Given the description of an element on the screen output the (x, y) to click on. 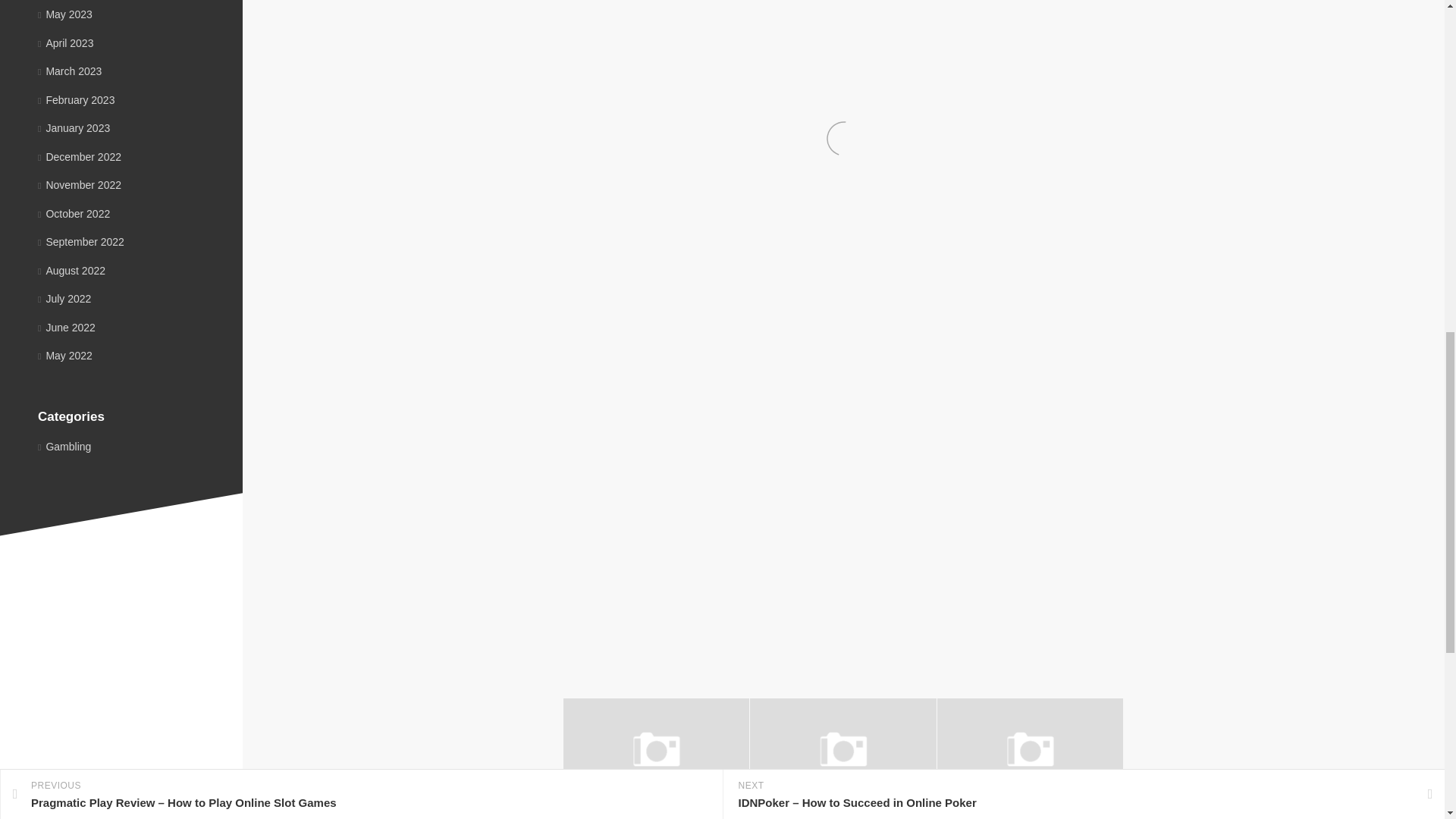
October 2022 (73, 214)
May 2023 (65, 14)
April 2023 (65, 42)
January 2023 (73, 128)
March 2023 (69, 70)
December 2022 (78, 155)
February 2023 (76, 100)
November 2022 (78, 184)
